Given the description of an element on the screen output the (x, y) to click on. 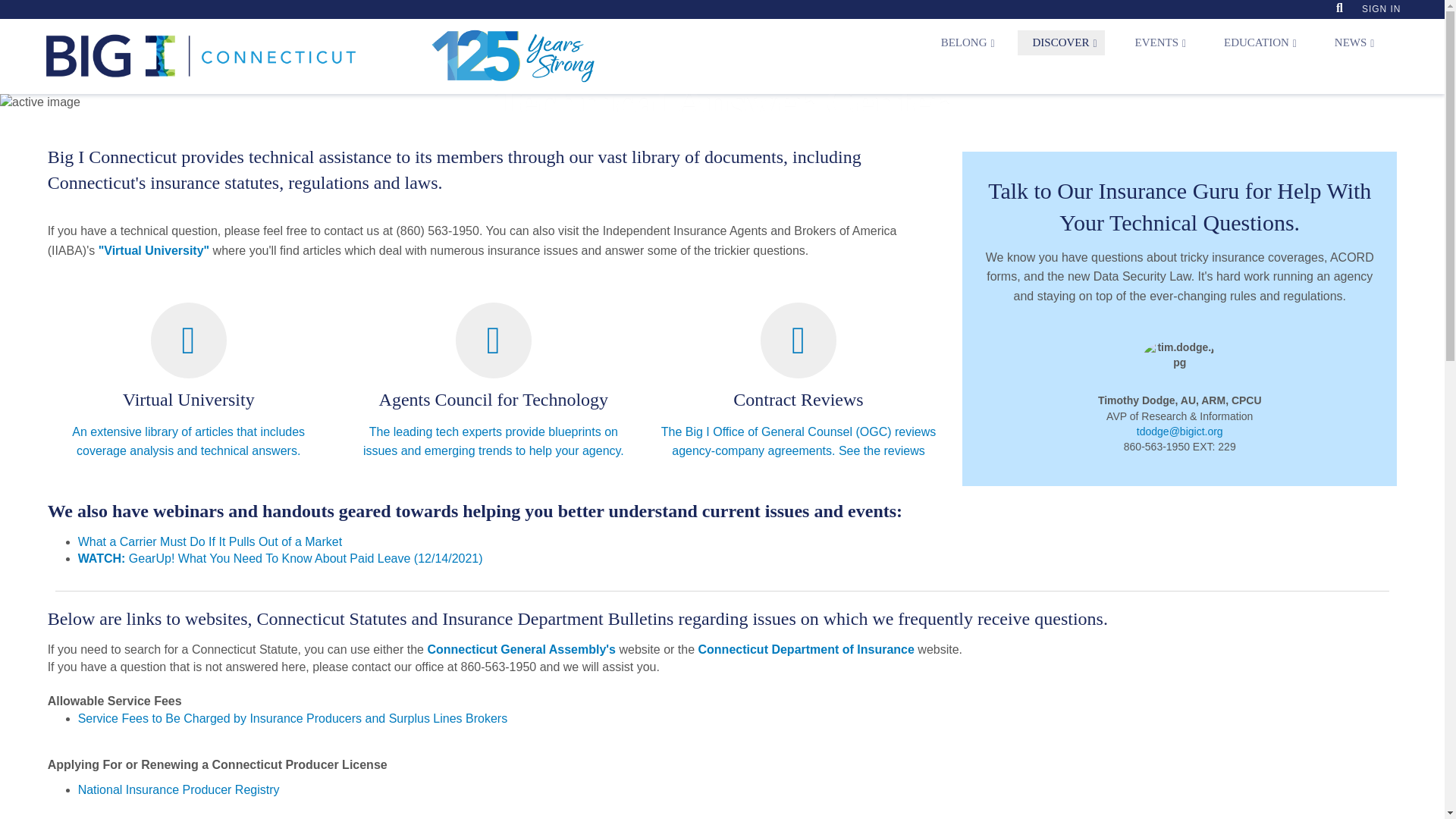
BELONG (964, 42)
Home (319, 55)
IACBWS06 (5, 5)
Home (312, 55)
SIGN IN (1380, 9)
Sign In to access benefits (1380, 9)
DISCOVER (1061, 42)
